Given the description of an element on the screen output the (x, y) to click on. 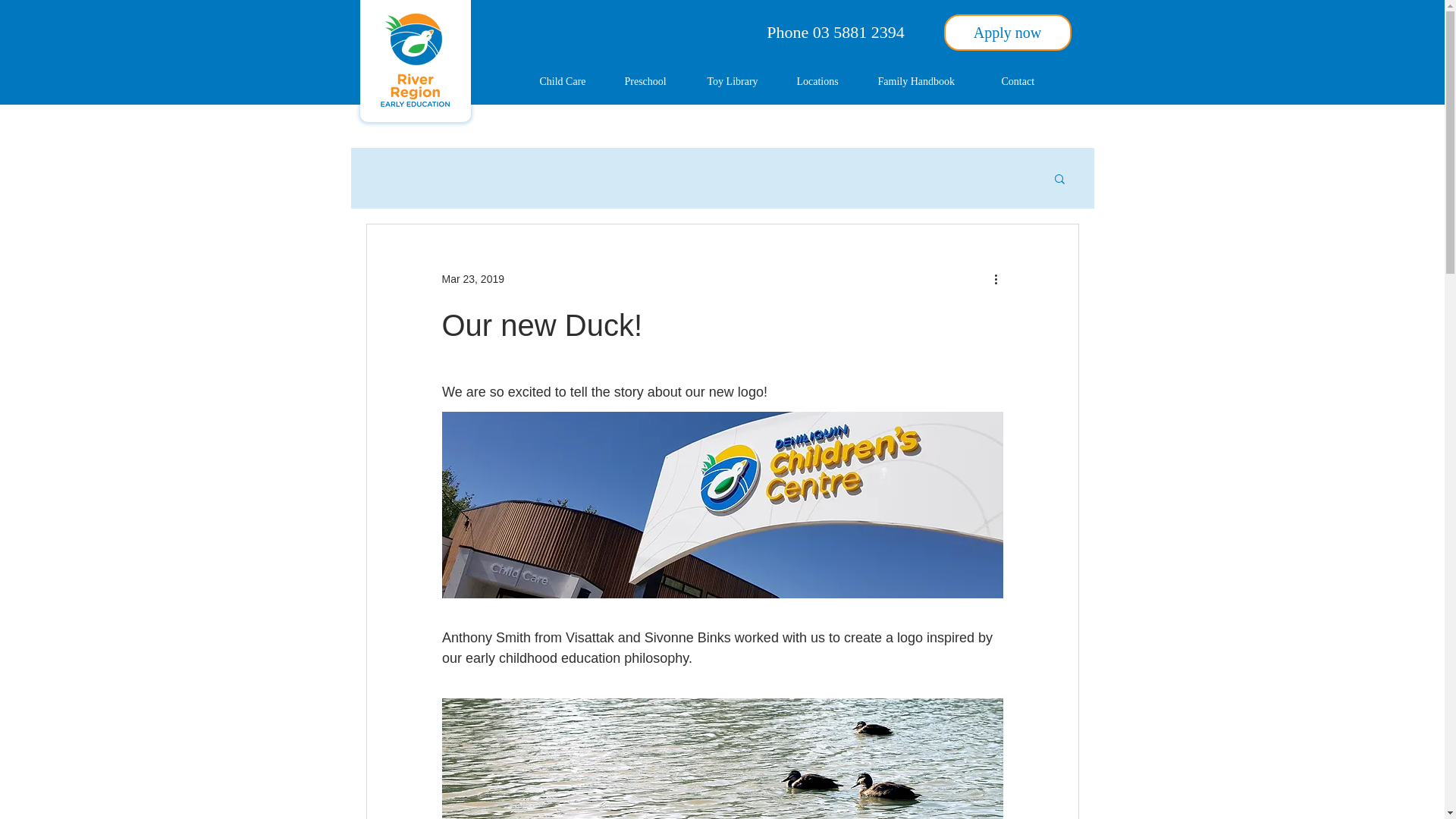
Mar 23, 2019 (472, 278)
Child Care (569, 81)
Toy Library (740, 81)
Contact (1026, 81)
Phone 03 5881 2394 (835, 31)
Family Handbook (928, 81)
Preschool (653, 81)
Apply now (1006, 32)
Locations (826, 81)
